Given the description of an element on the screen output the (x, y) to click on. 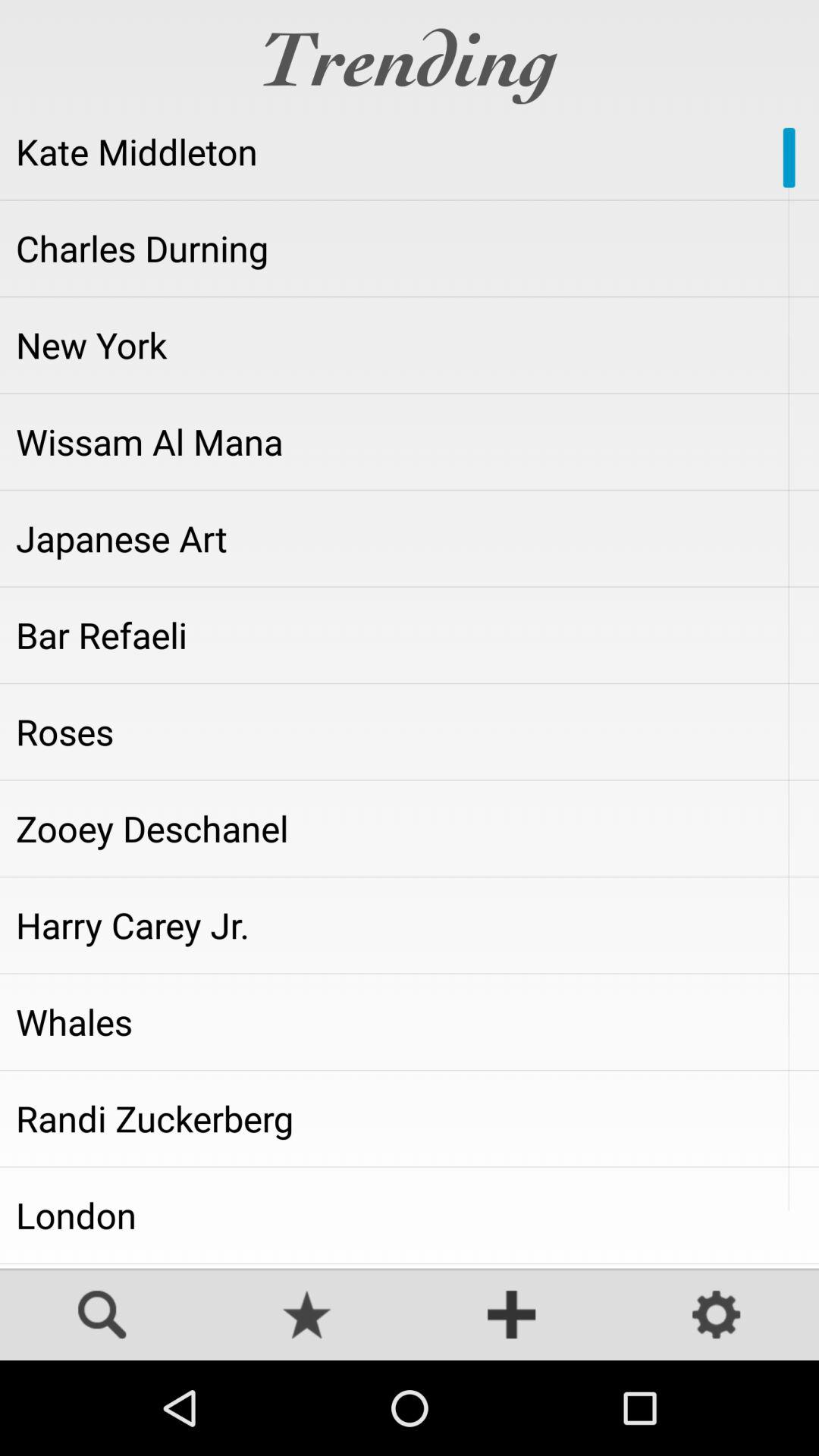
click the icon below the new york icon (409, 441)
